Given the description of an element on the screen output the (x, y) to click on. 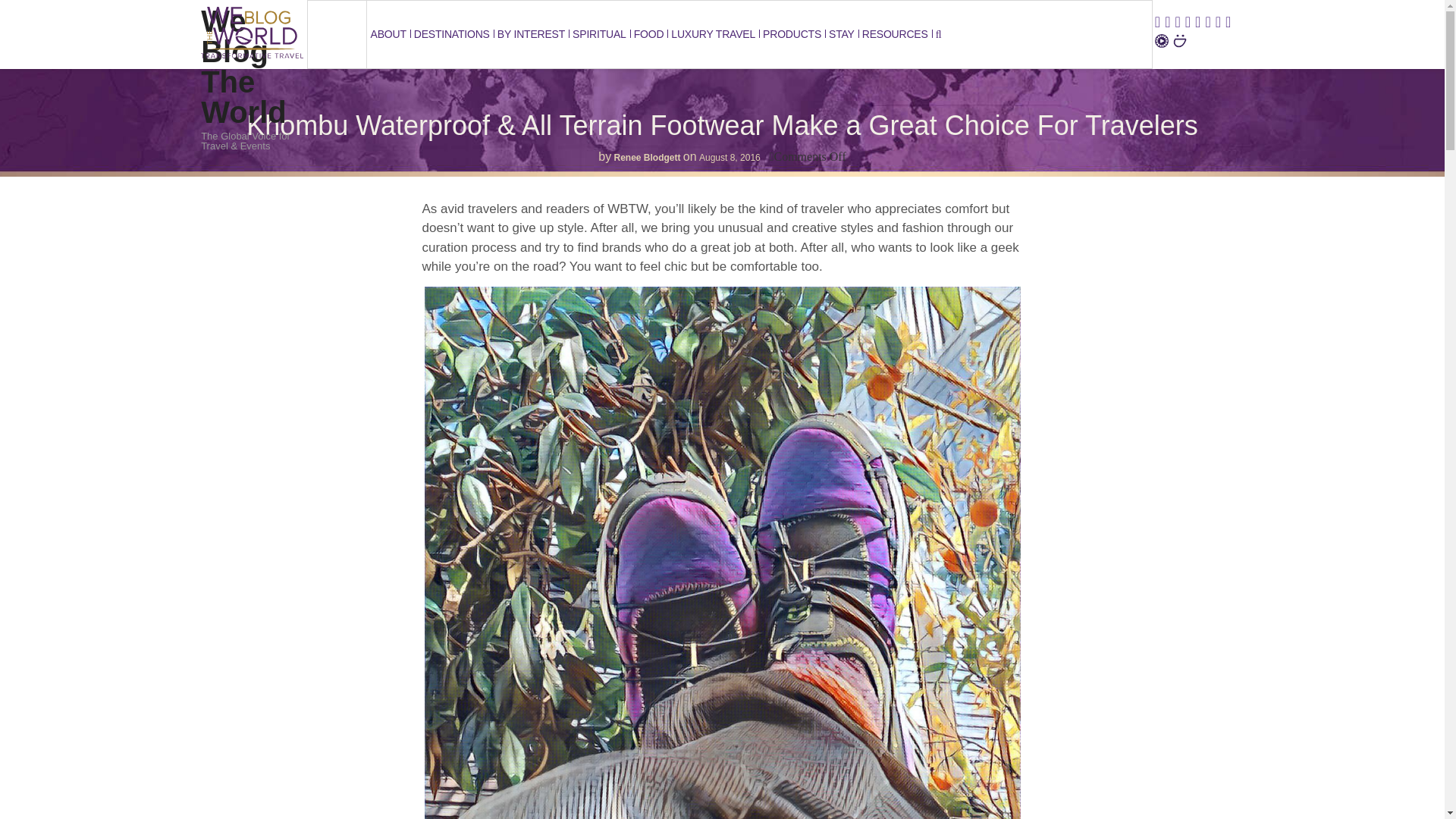
DESTINATIONS (452, 33)
Posts by Renee Blodgett (647, 157)
BY INTEREST (531, 33)
2016-08-08T11:05:14-0700 (729, 157)
